Given the description of an element on the screen output the (x, y) to click on. 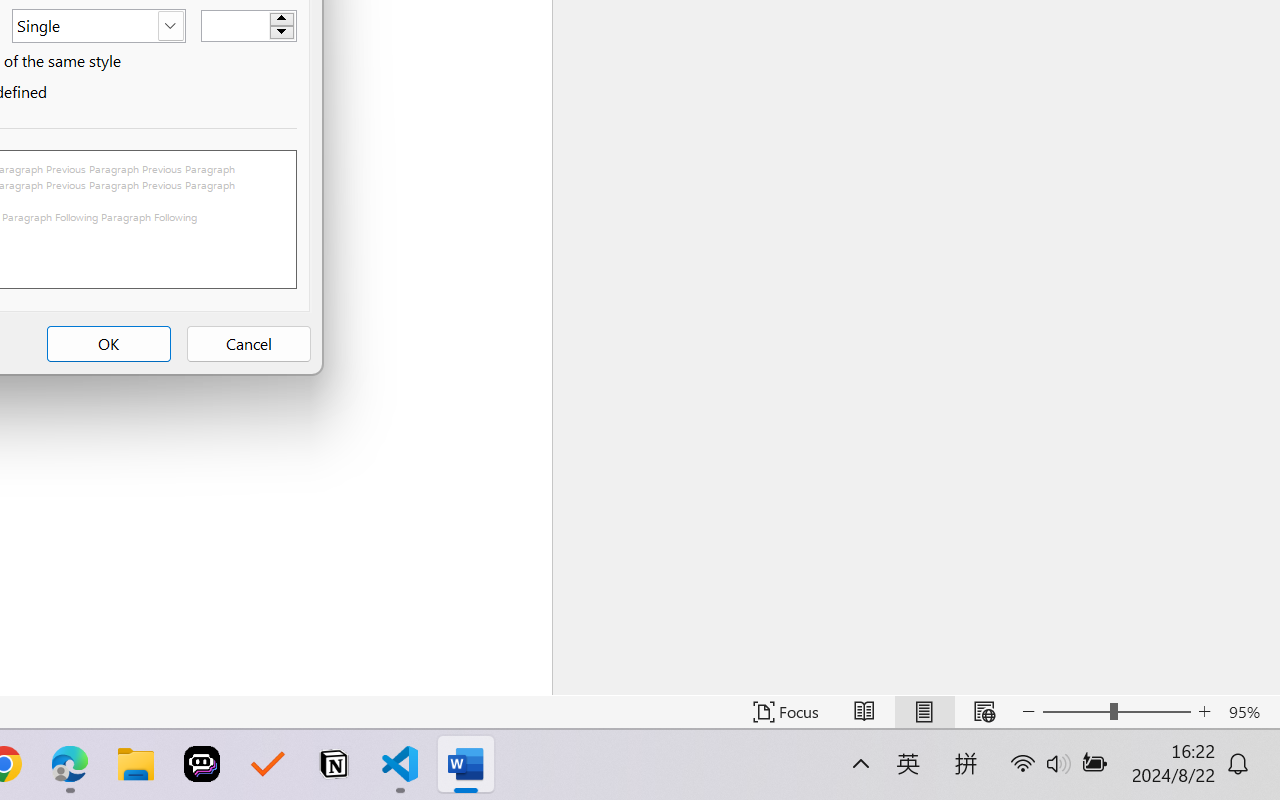
Poe (201, 764)
Line spacing: (98, 25)
Cancel (248, 343)
RichEdit Control (235, 25)
